Given the description of an element on the screen output the (x, y) to click on. 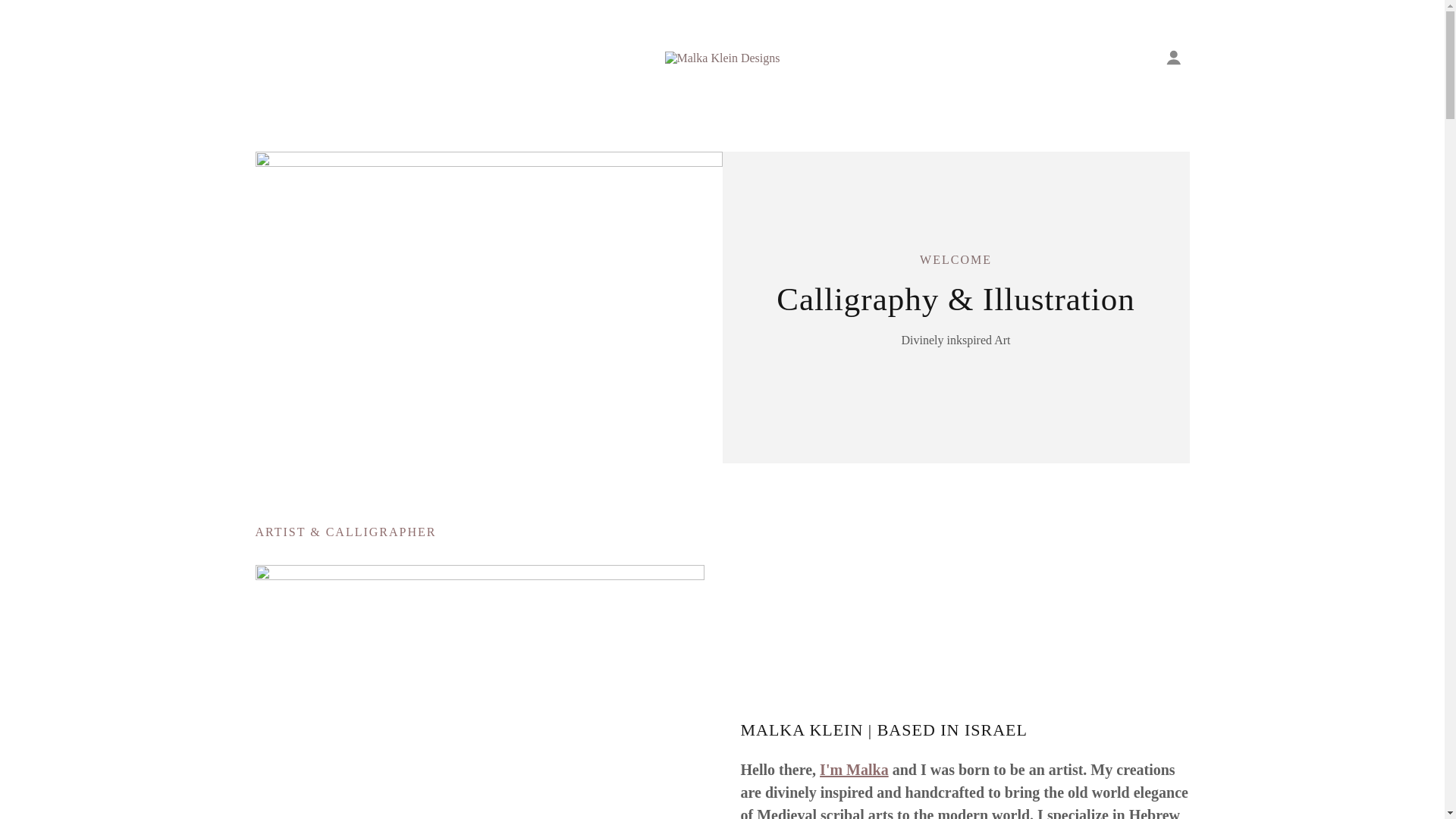
Malka Klein Designs (720, 56)
